Given the description of an element on the screen output the (x, y) to click on. 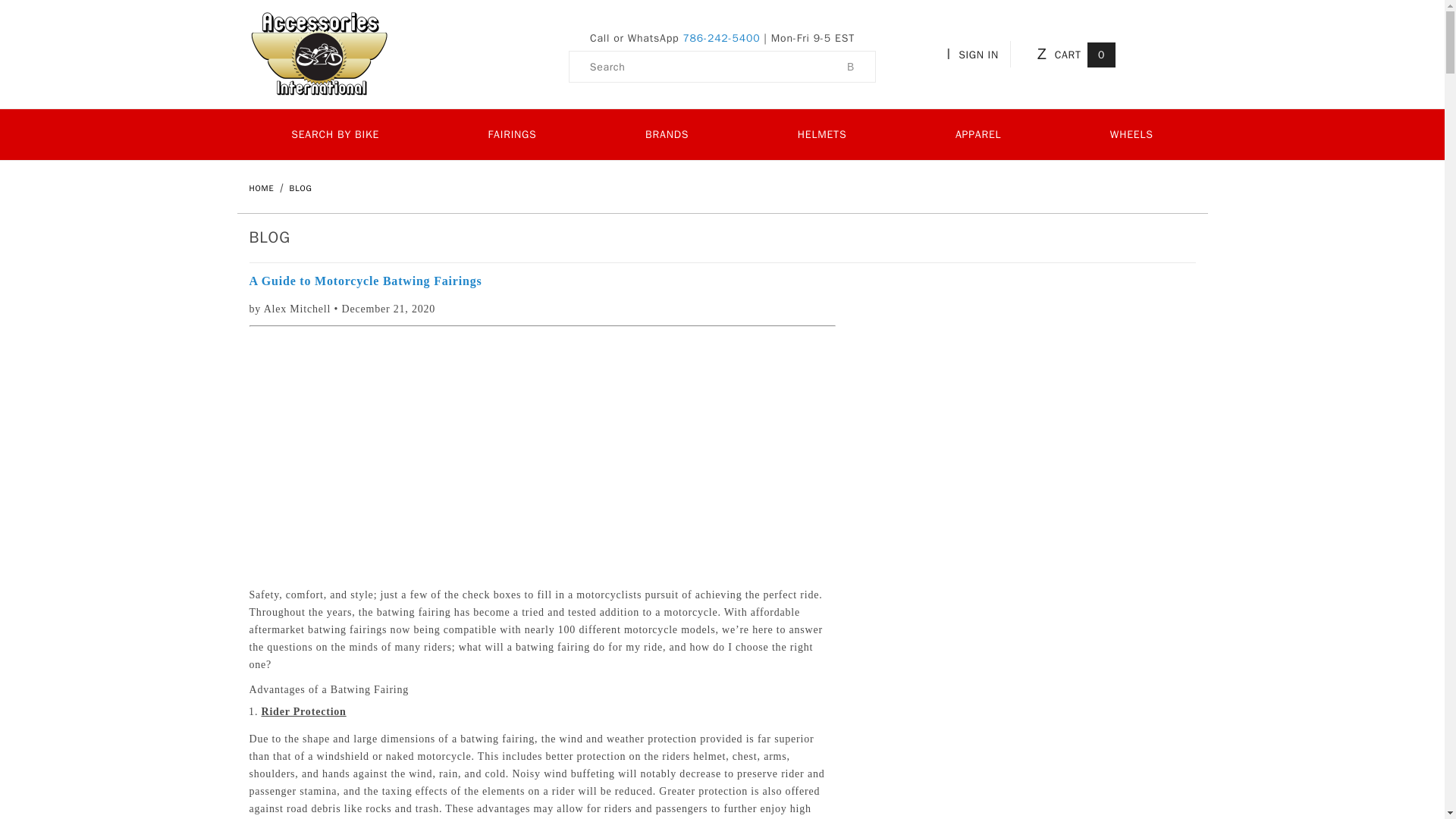
786-242-5400 (721, 38)
BRANDS (666, 134)
A Guide to Motorcycle Batwing Fairings (541, 281)
Sign In (1071, 239)
HELMETS (821, 134)
BLOG (301, 187)
SEARCH BY BIKE (333, 134)
FAIRINGS (512, 134)
CART 0 (1073, 53)
APPAREL (978, 134)
SIGN IN (975, 53)
BLOG (301, 187)
HOME (262, 187)
Home (262, 187)
Accessories International (318, 52)
